Given the description of an element on the screen output the (x, y) to click on. 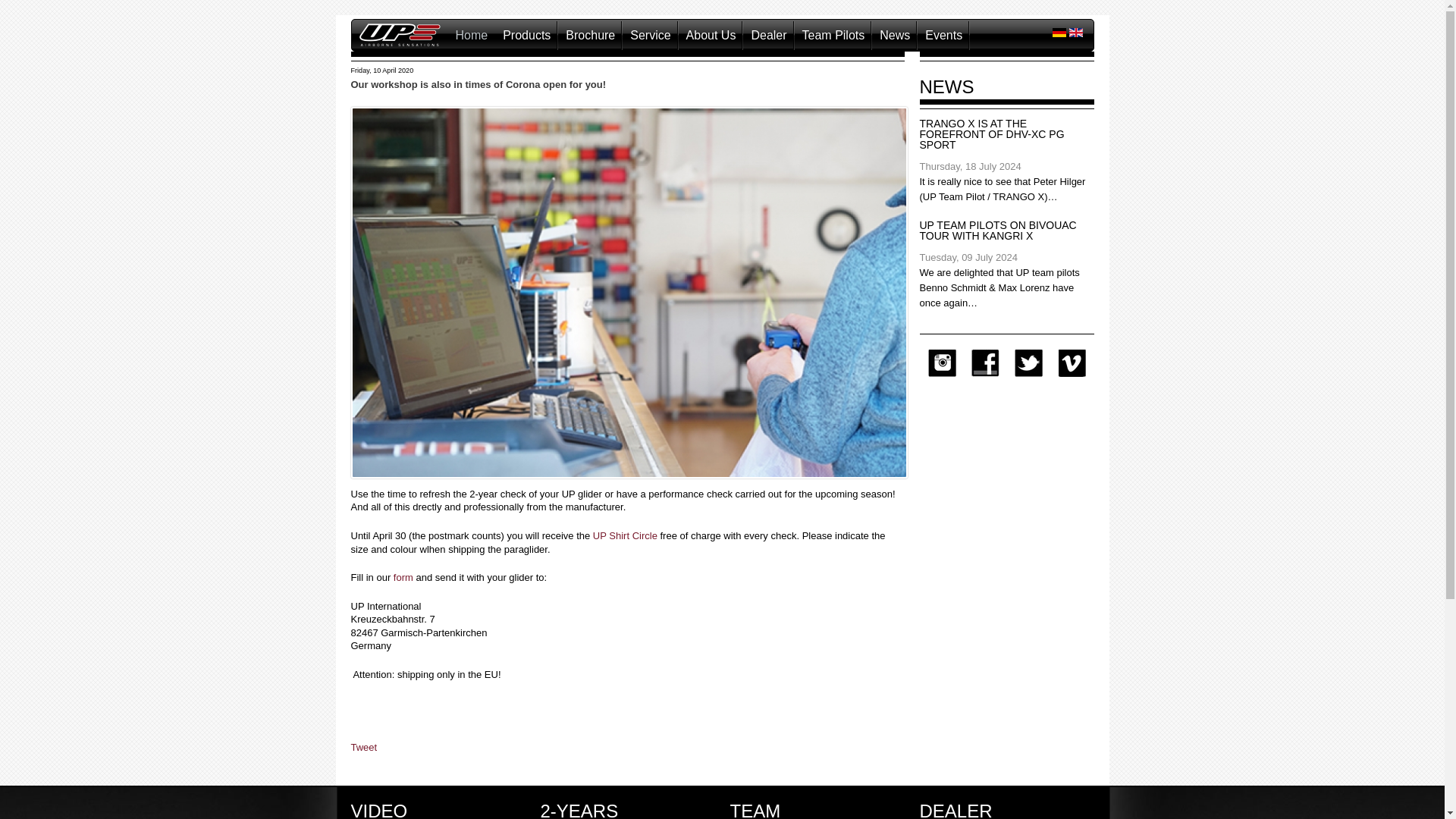
Deutsch (1058, 31)
UP International Homepage (400, 42)
Products (526, 35)
Home (470, 35)
